Given the description of an element on the screen output the (x, y) to click on. 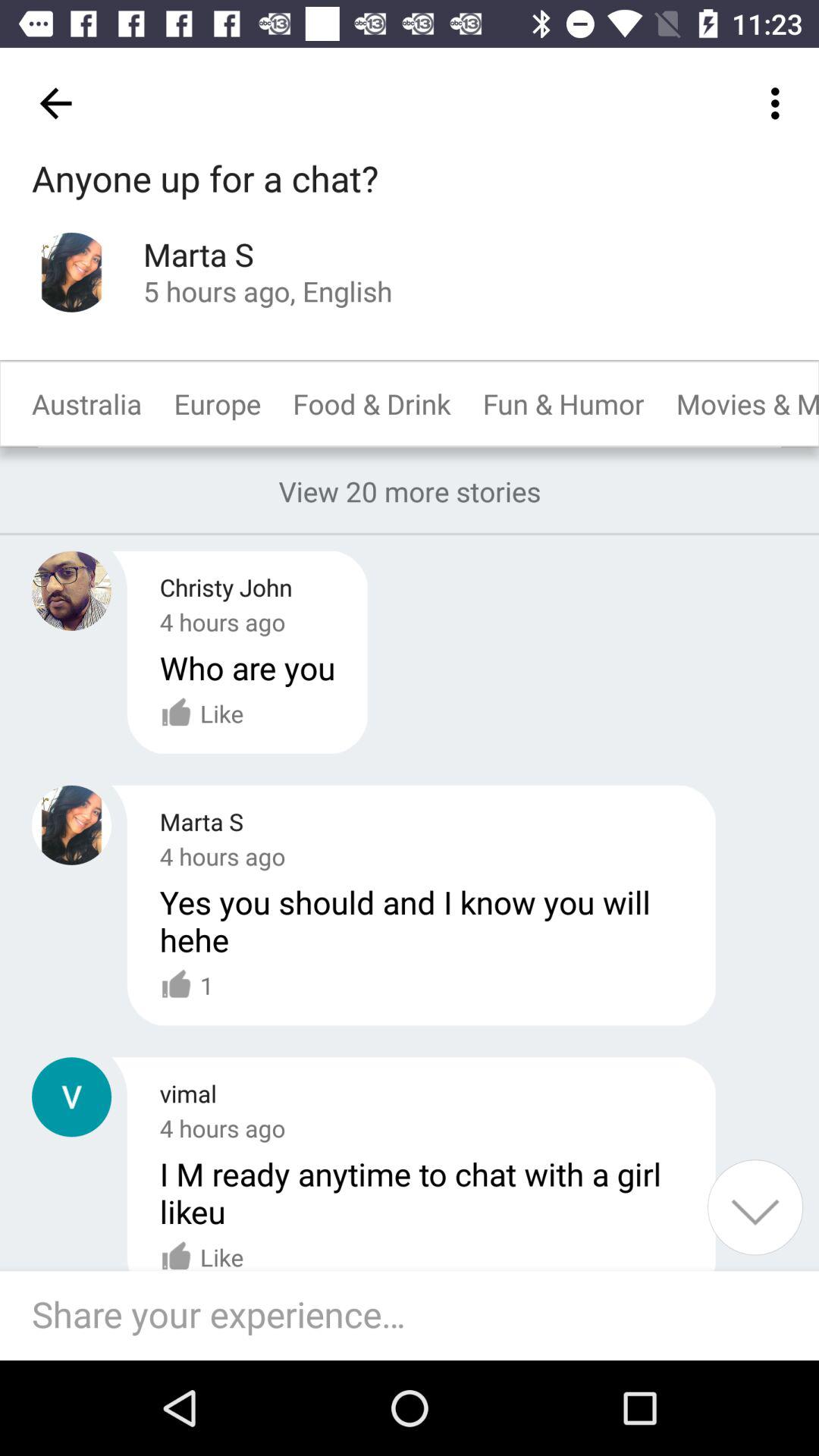
the profile (71, 272)
